Given the description of an element on the screen output the (x, y) to click on. 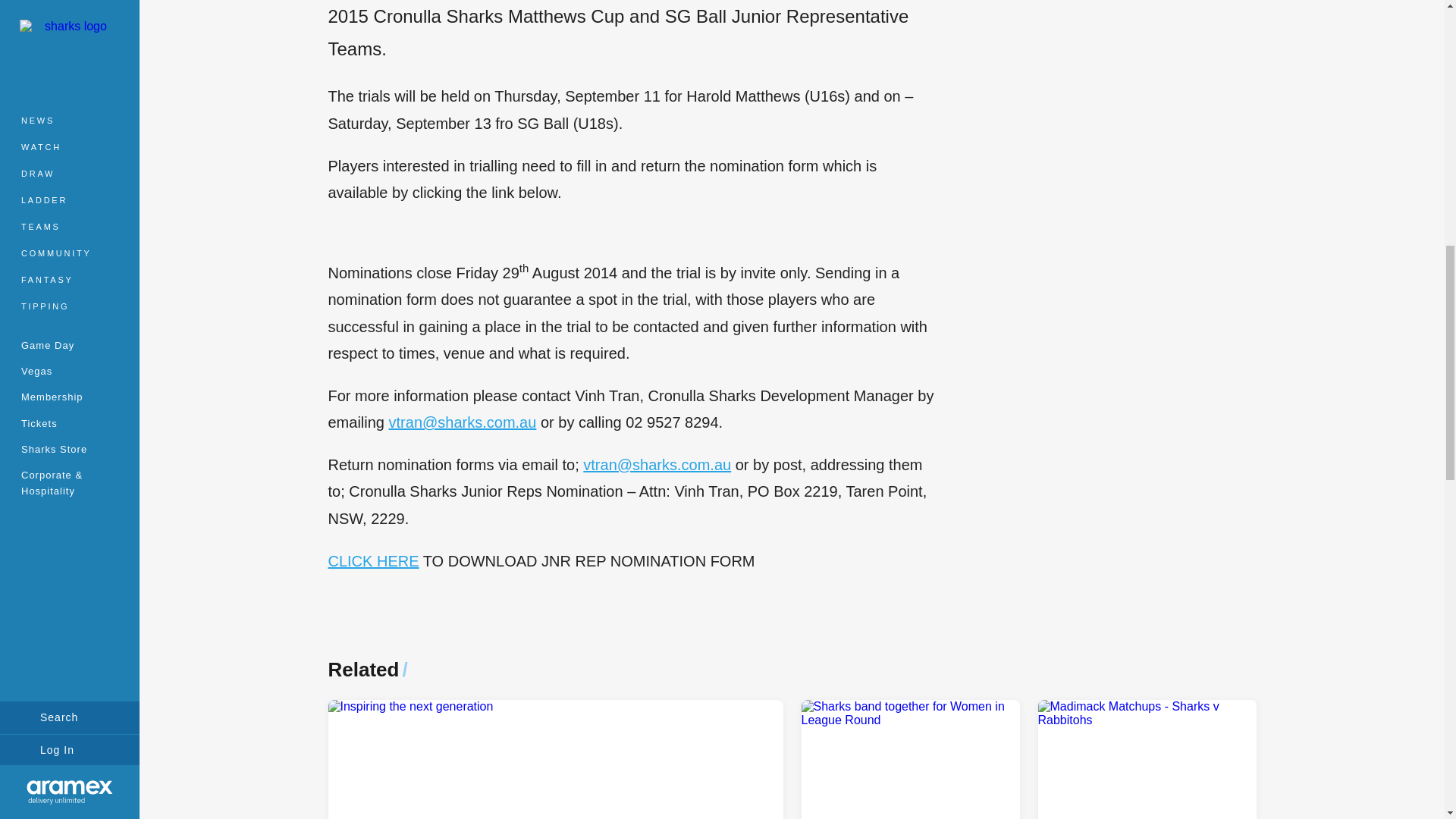
CLICK HERE (373, 560)
